Given the description of an element on the screen output the (x, y) to click on. 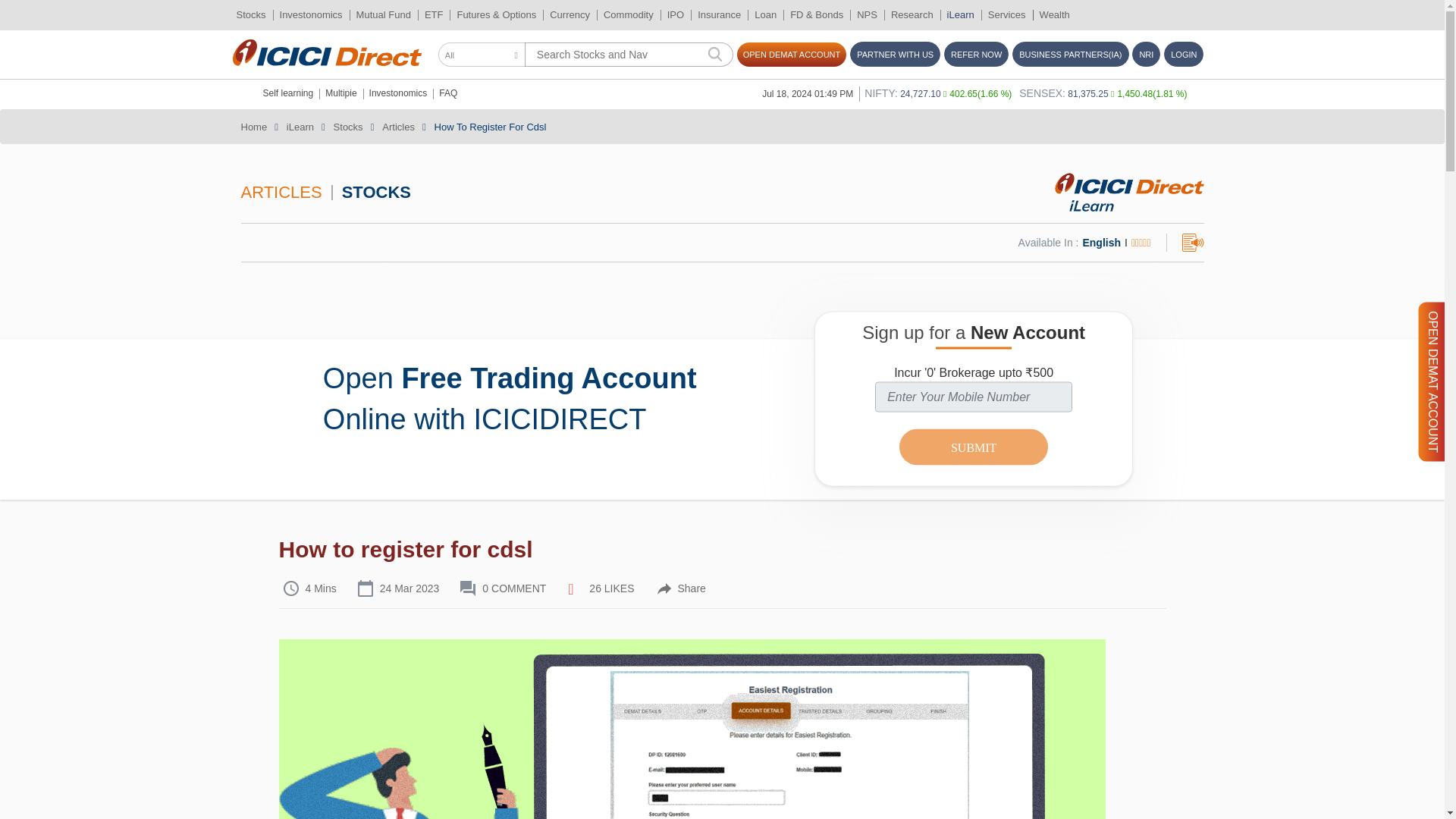
Investonomics (311, 15)
All (481, 54)
Mutual Fund (383, 15)
ETF (433, 15)
Currency (569, 15)
Stocks (250, 15)
